Given the description of an element on the screen output the (x, y) to click on. 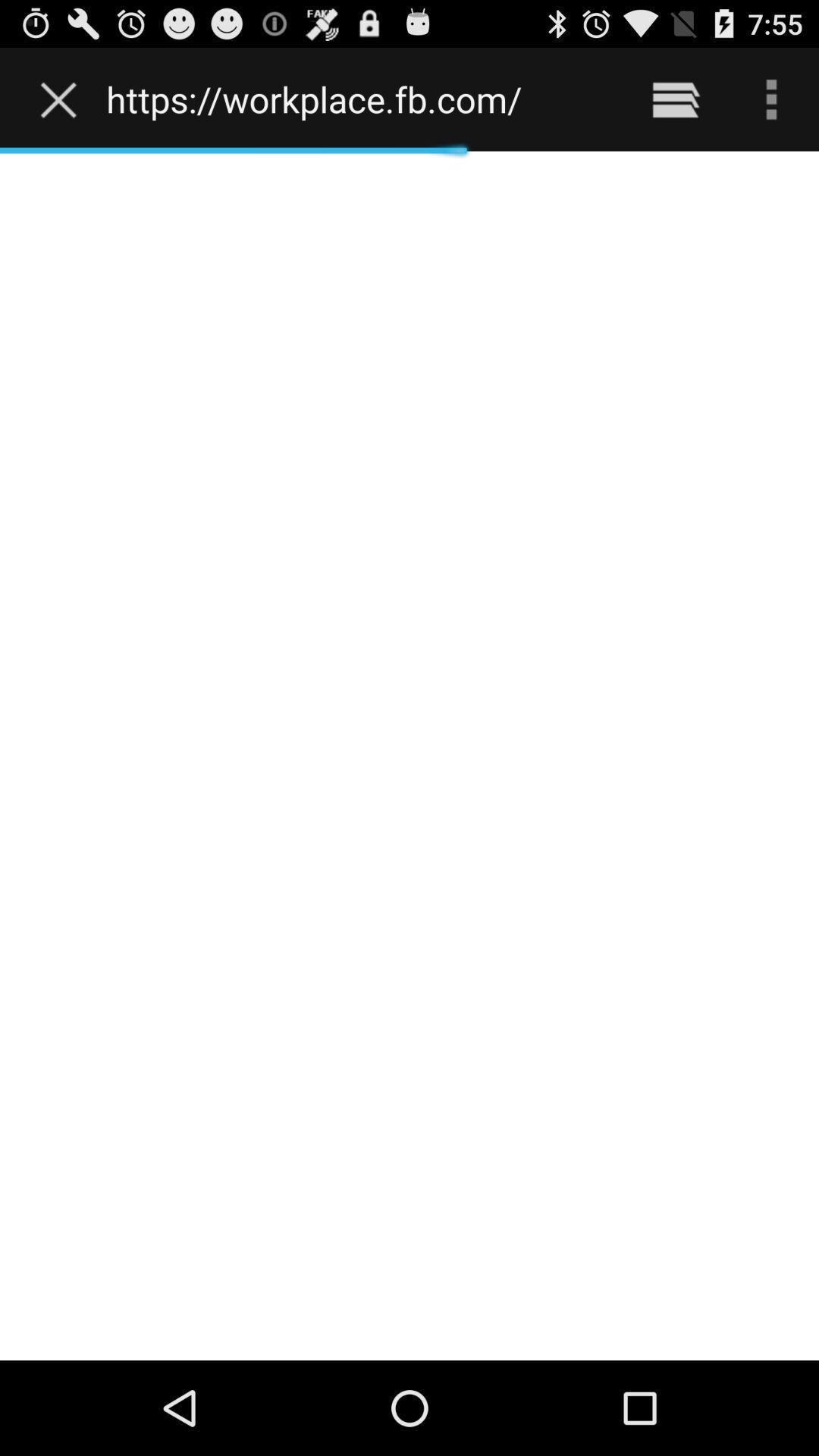
click the item to the left of the https workplace fb (62, 99)
